Given the description of an element on the screen output the (x, y) to click on. 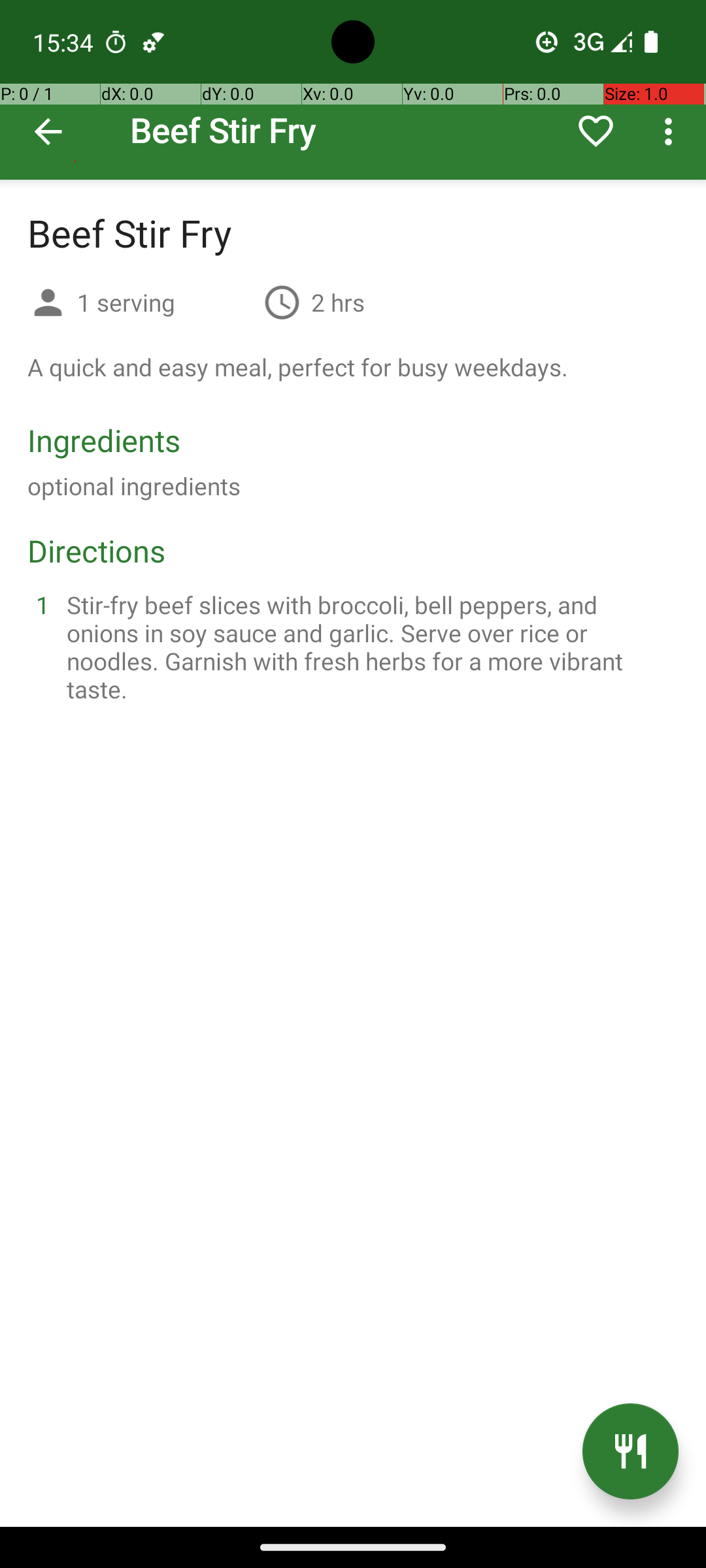
Stir-fry beef slices with broccoli, bell peppers, and onions in soy sauce and garlic. Serve over rice or noodles. Garnish with fresh herbs for a more vibrant taste. Element type: android.widget.TextView (368, 646)
